Given the description of an element on the screen output the (x, y) to click on. 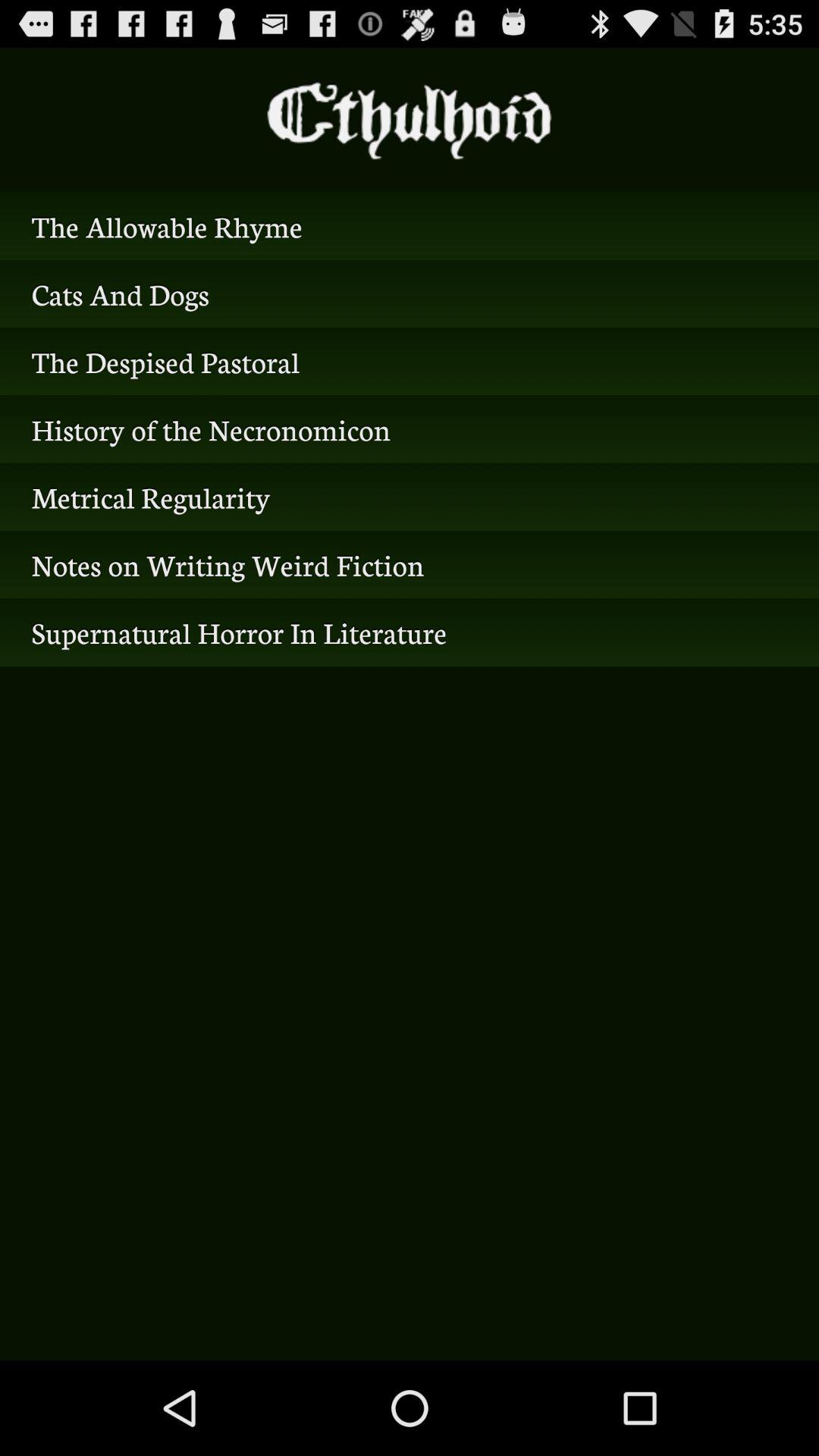
turn on supernatural horror in icon (409, 632)
